Given the description of an element on the screen output the (x, y) to click on. 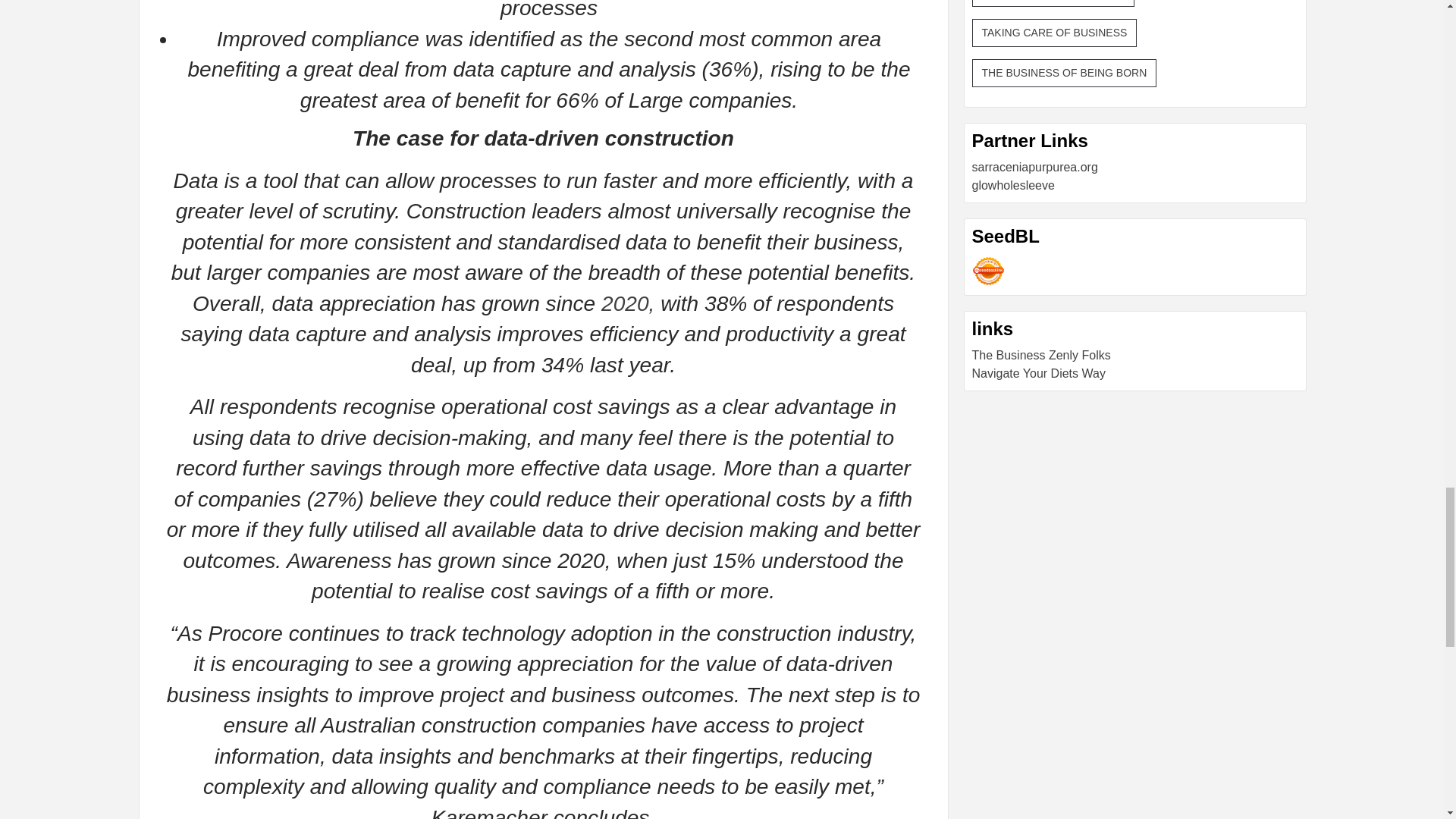
2020, (624, 303)
Seedbacklink (988, 270)
